Given the description of an element on the screen output the (x, y) to click on. 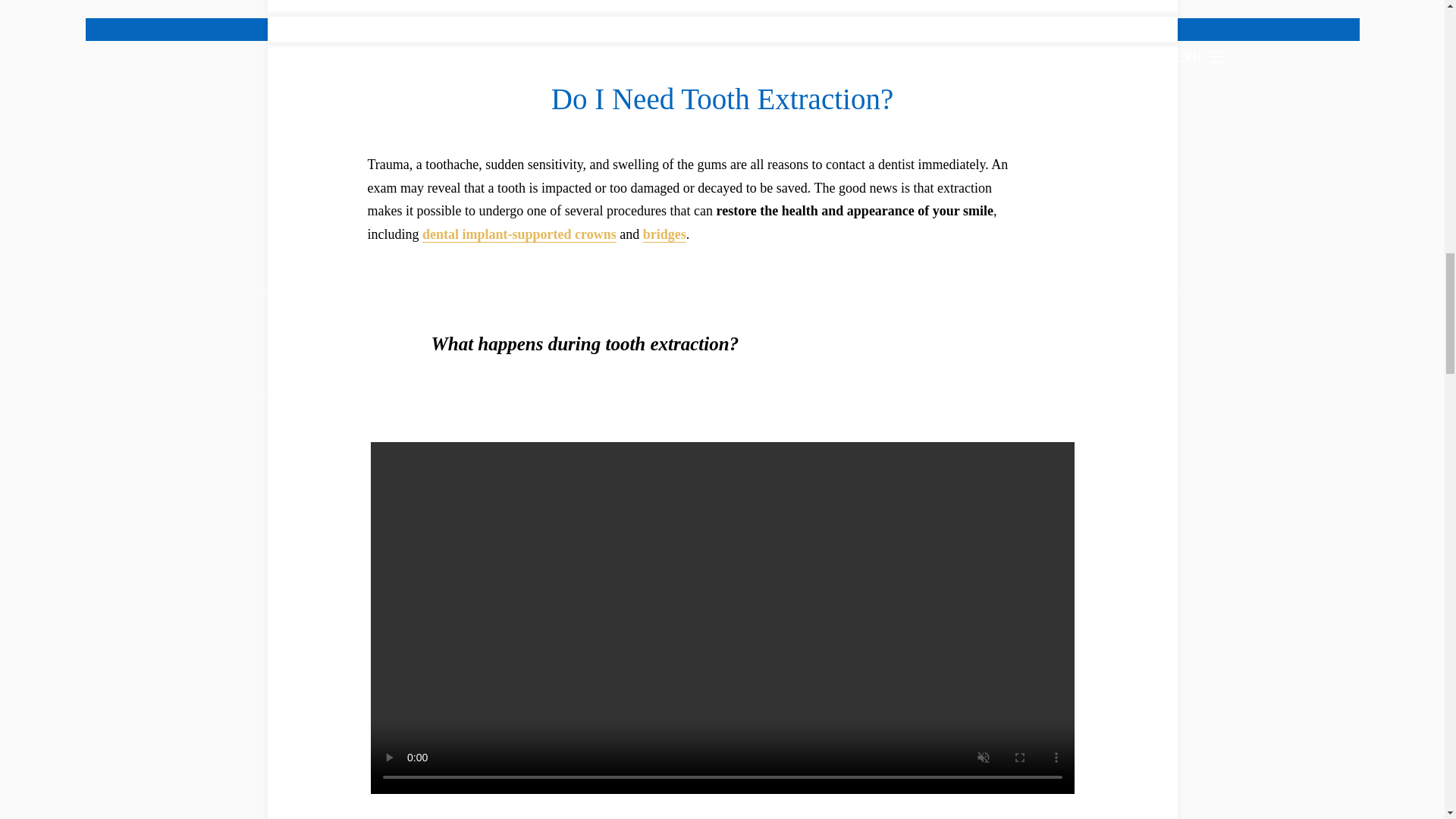
bridges (664, 234)
dental implant-supported crowns (518, 234)
